Given the description of an element on the screen output the (x, y) to click on. 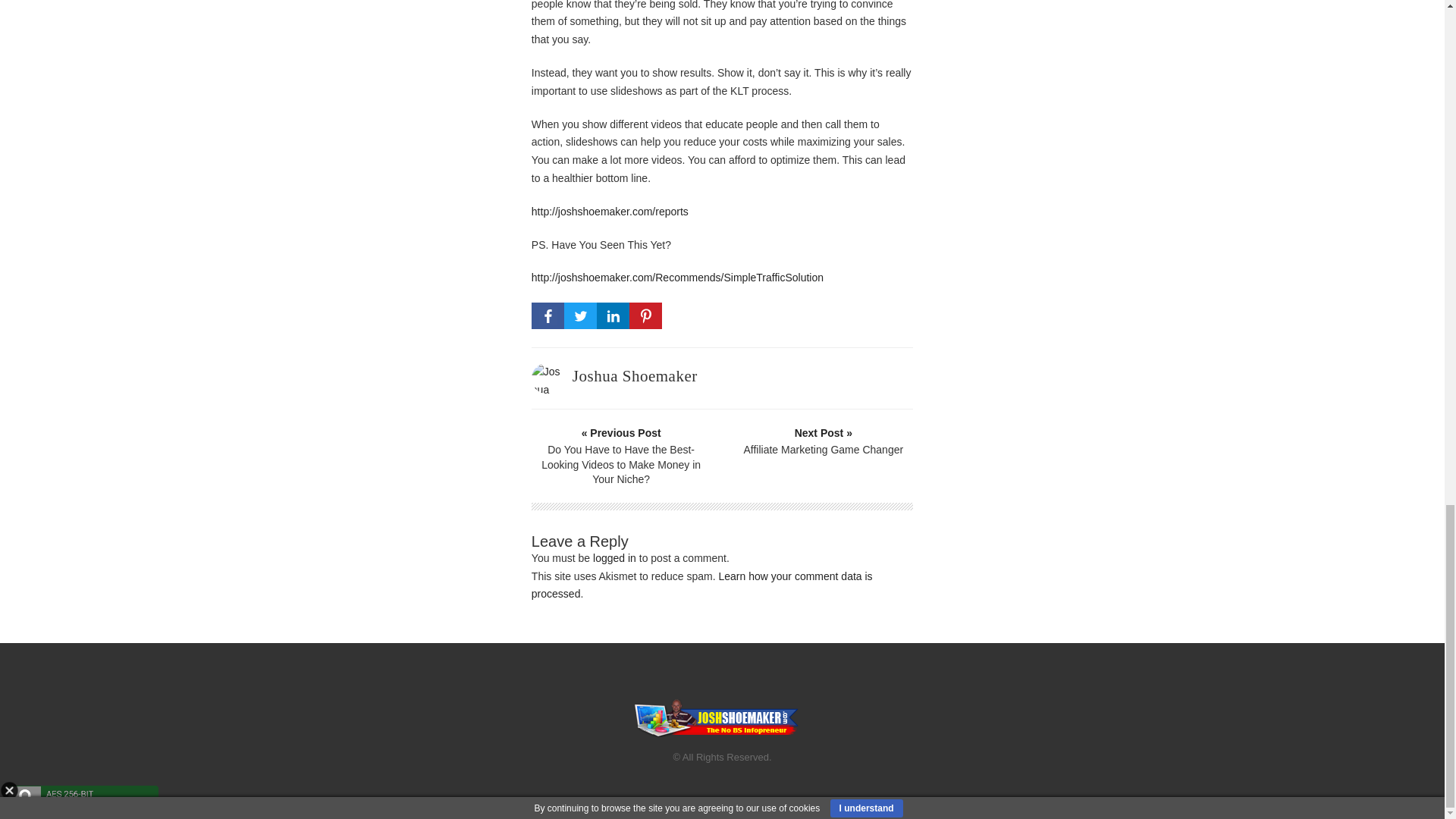
Affiliate Marketing Game Changer (823, 441)
Learn how your comment data is processed (701, 585)
JoshShoemaker.com (716, 718)
Joshua Shoemaker (634, 375)
logged in (614, 558)
